Given the description of an element on the screen output the (x, y) to click on. 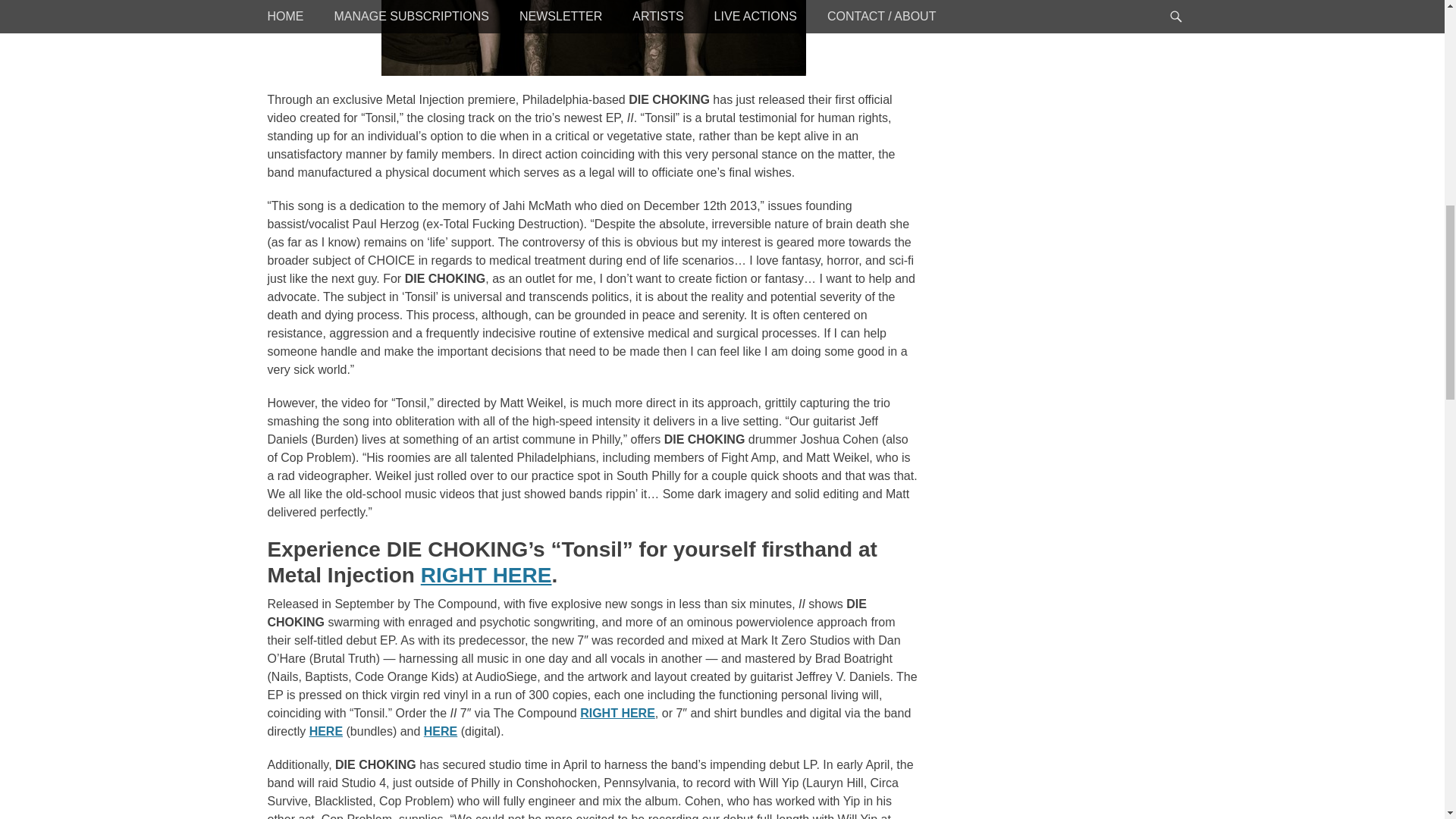
Die choking promo (592, 38)
HERE (325, 730)
HERE (440, 730)
RIGHT HERE (617, 712)
RIGHT HERE (485, 575)
